Given the description of an element on the screen output the (x, y) to click on. 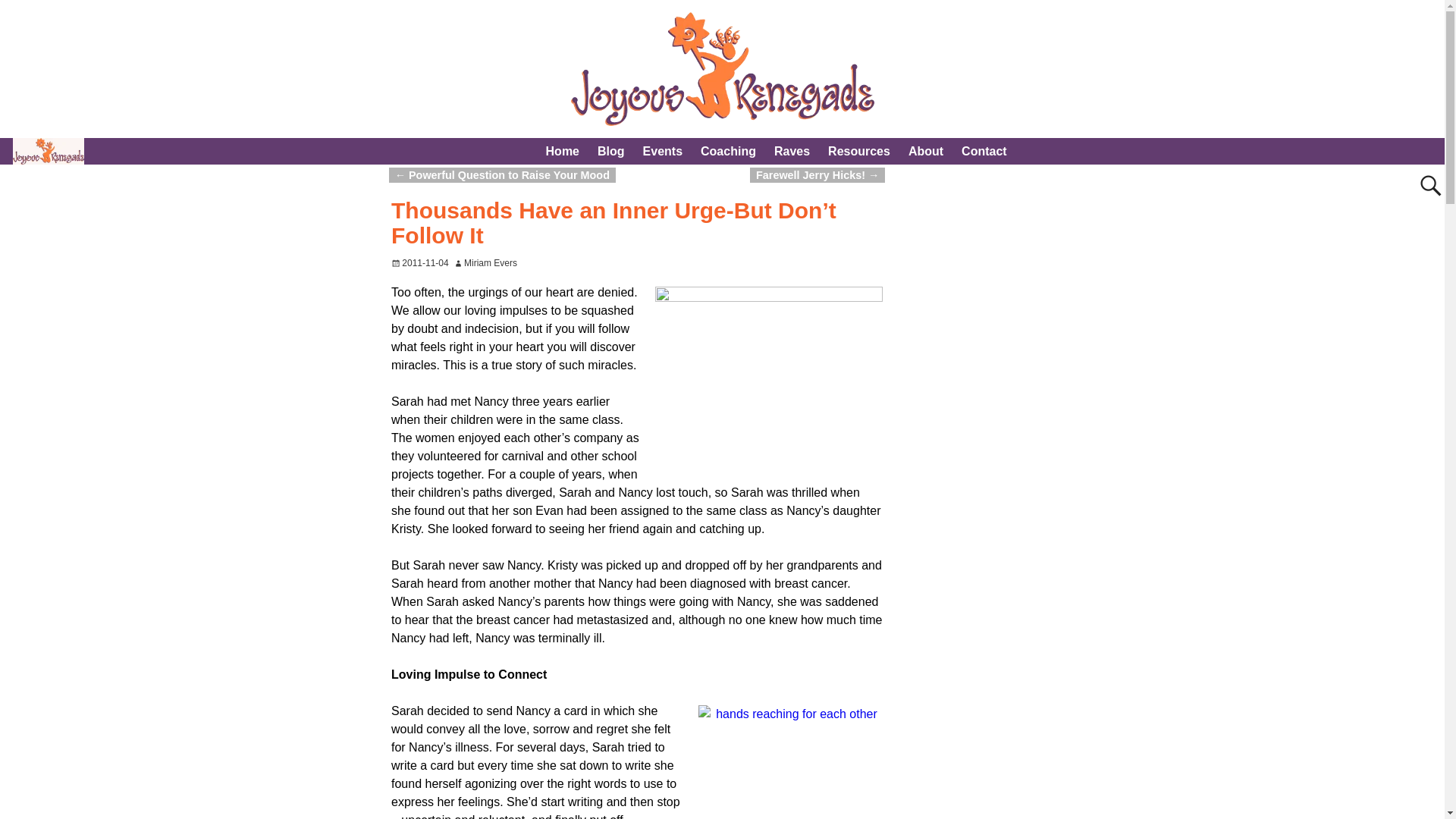
Events (662, 151)
Miriam Evers (490, 262)
Home (562, 151)
Blog (610, 151)
2011-11-04 (419, 262)
canstockphoto4566425 (768, 371)
Raves (791, 151)
Contact (984, 151)
4:44 pm (419, 262)
Resources (858, 151)
canstockphoto2987443 (790, 762)
Coaching (728, 151)
View all posts by Miriam Evers (490, 262)
About (925, 151)
